Given the description of an element on the screen output the (x, y) to click on. 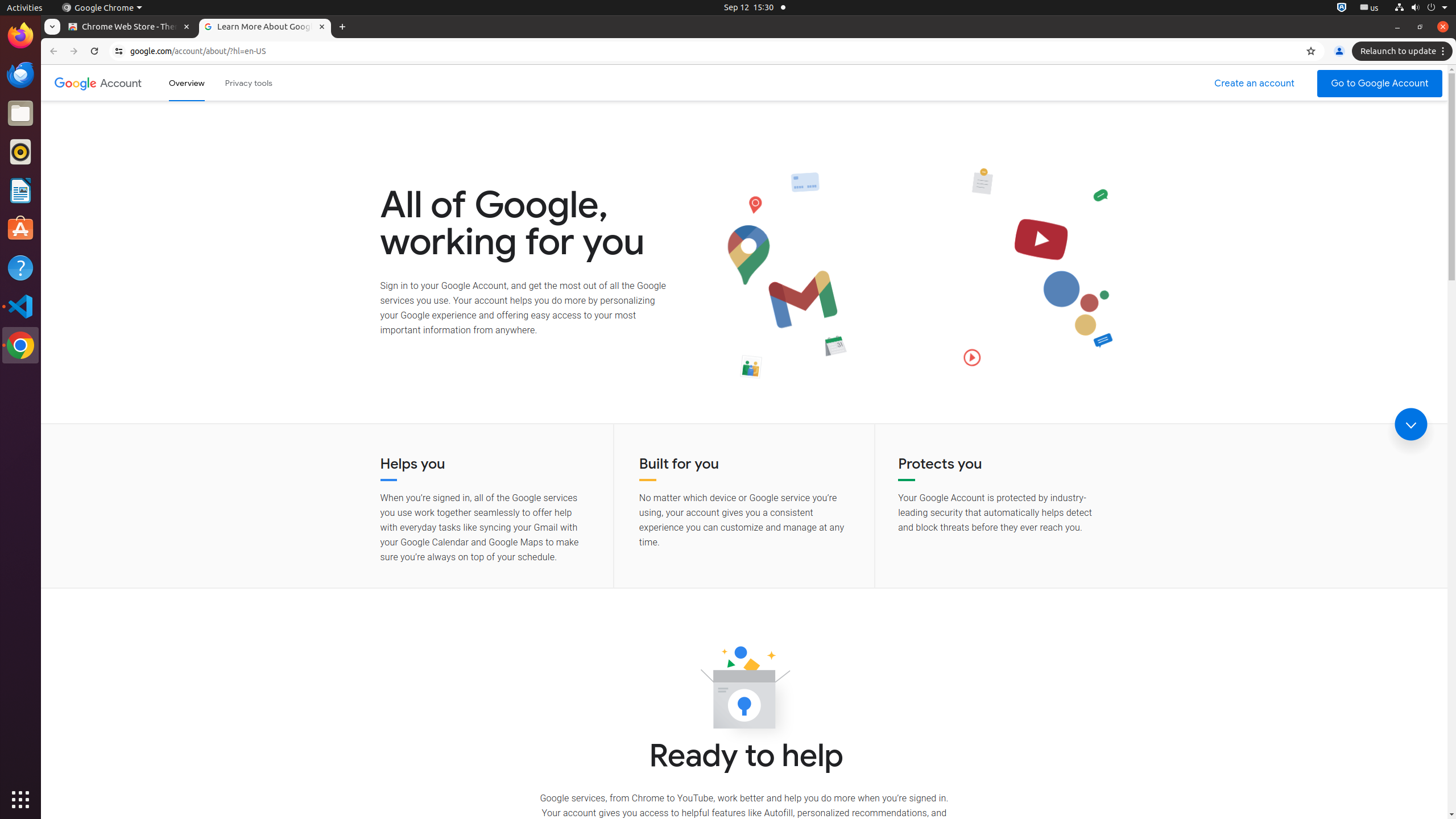
Firefox Web Browser Element type: push-button (20, 35)
Reload Element type: push-button (94, 50)
Rhythmbox Element type: push-button (20, 151)
Files Element type: push-button (20, 113)
Google Chrome Element type: push-button (20, 344)
